Given the description of an element on the screen output the (x, y) to click on. 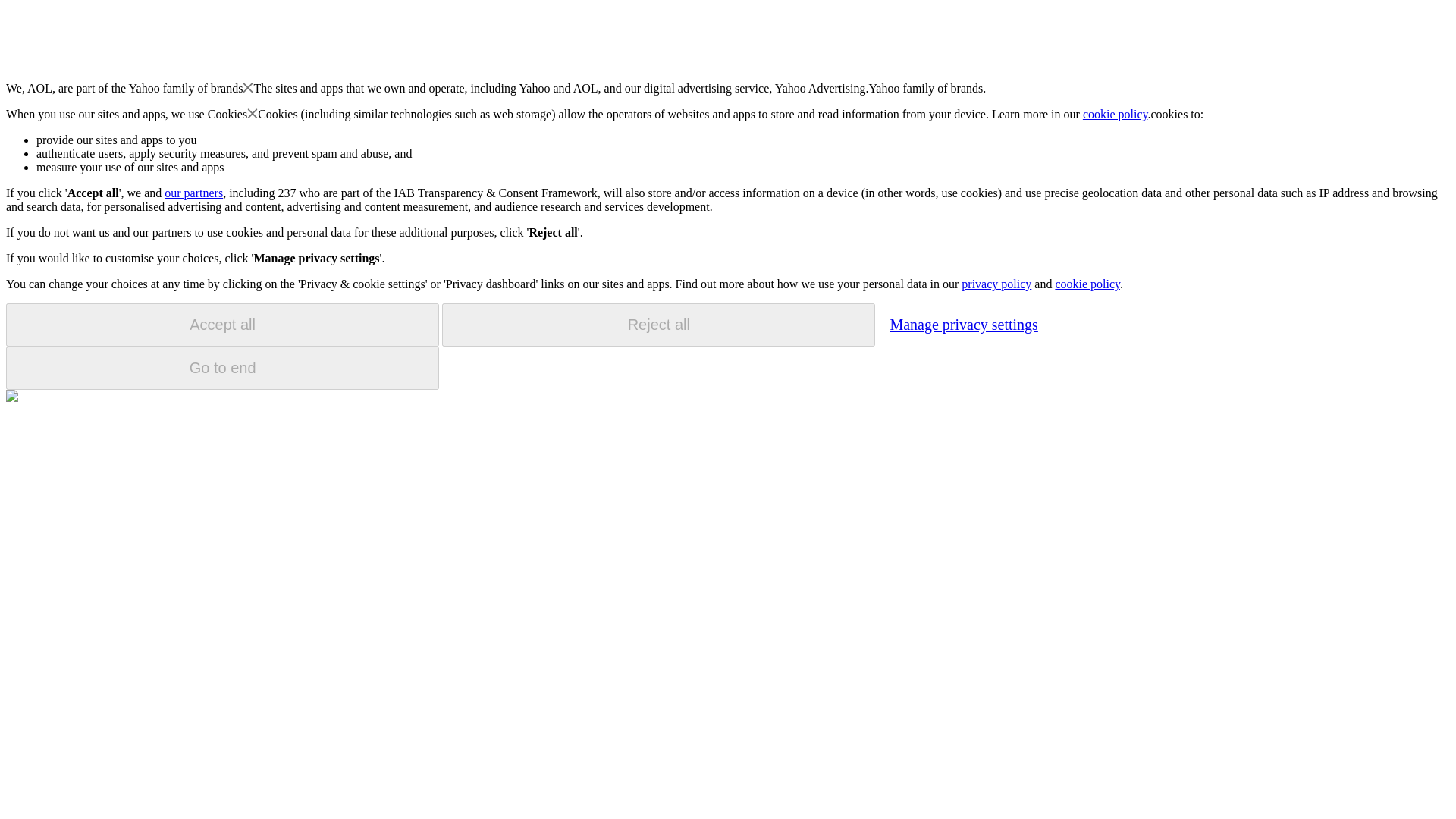
privacy policy (995, 283)
Manage privacy settings (963, 323)
Accept all (222, 324)
Go to end (222, 367)
Reject all (658, 324)
cookie policy (1086, 283)
our partners (193, 192)
cookie policy (1115, 113)
